Given the description of an element on the screen output the (x, y) to click on. 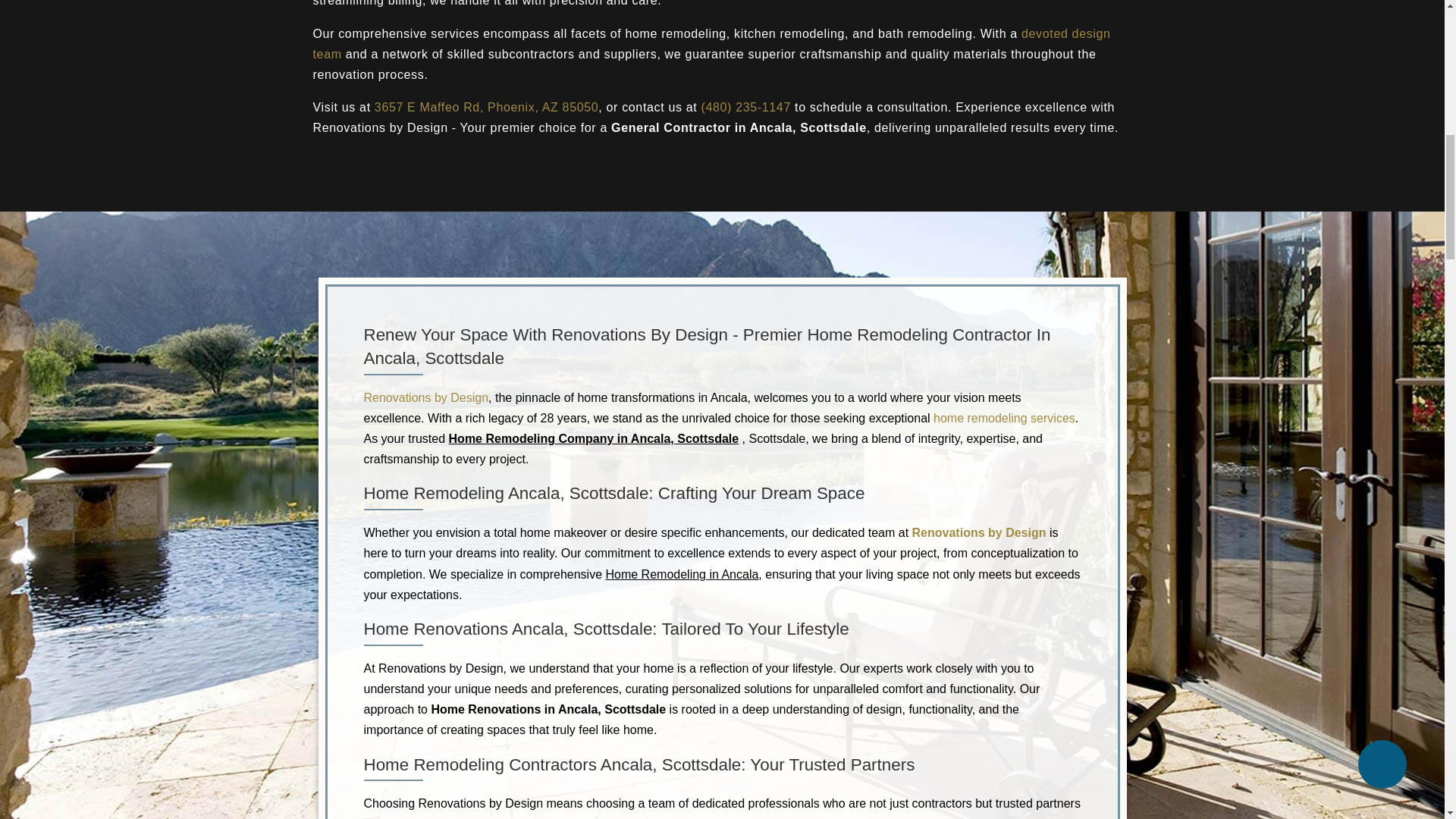
devoted design team (711, 43)
3657 E Maffeo Rd, Phoenix, AZ 85050 (486, 106)
